Given the description of an element on the screen output the (x, y) to click on. 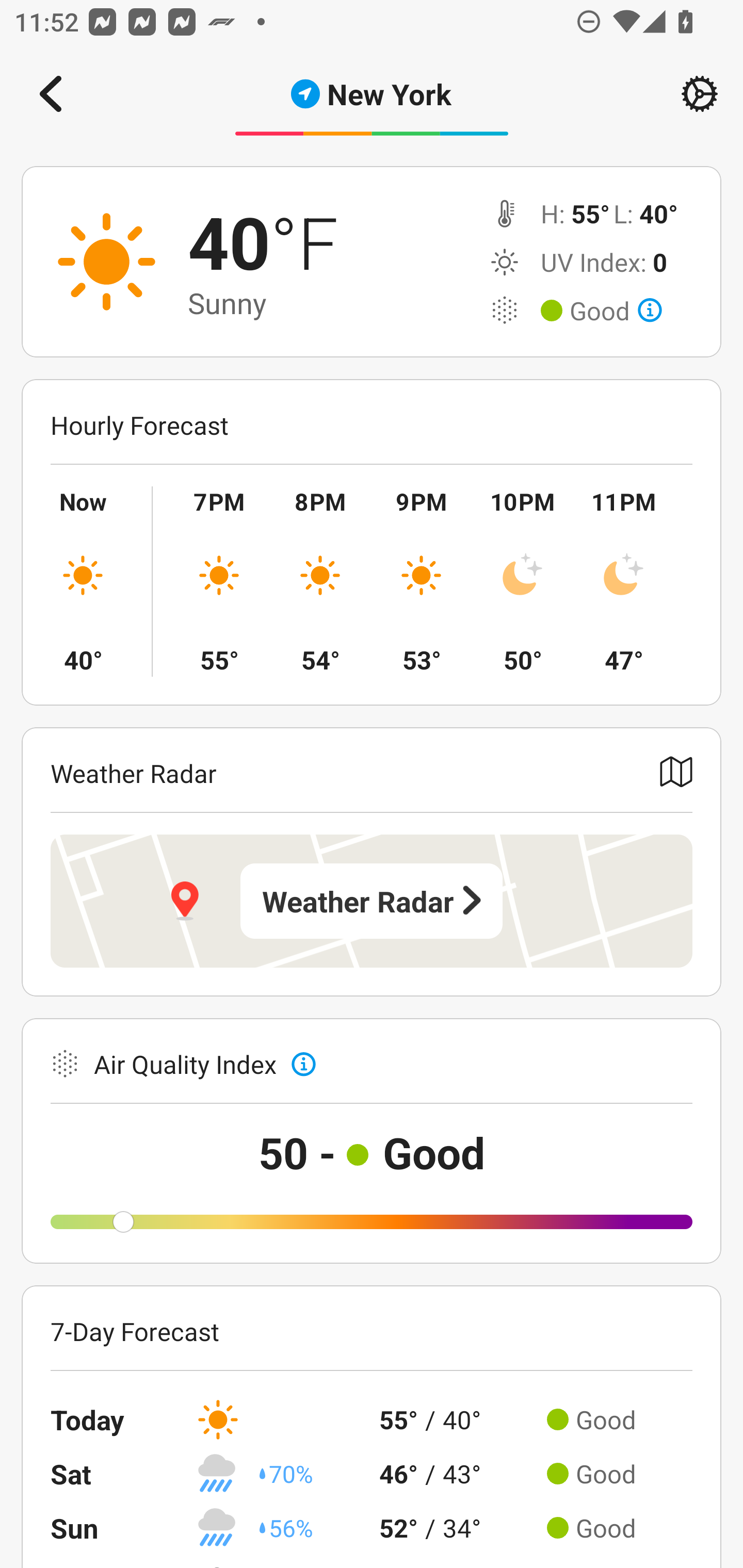
Navigate up (50, 93)
Setting (699, 93)
Good (615, 310)
Weather Radar (371, 900)
